Given the description of an element on the screen output the (x, y) to click on. 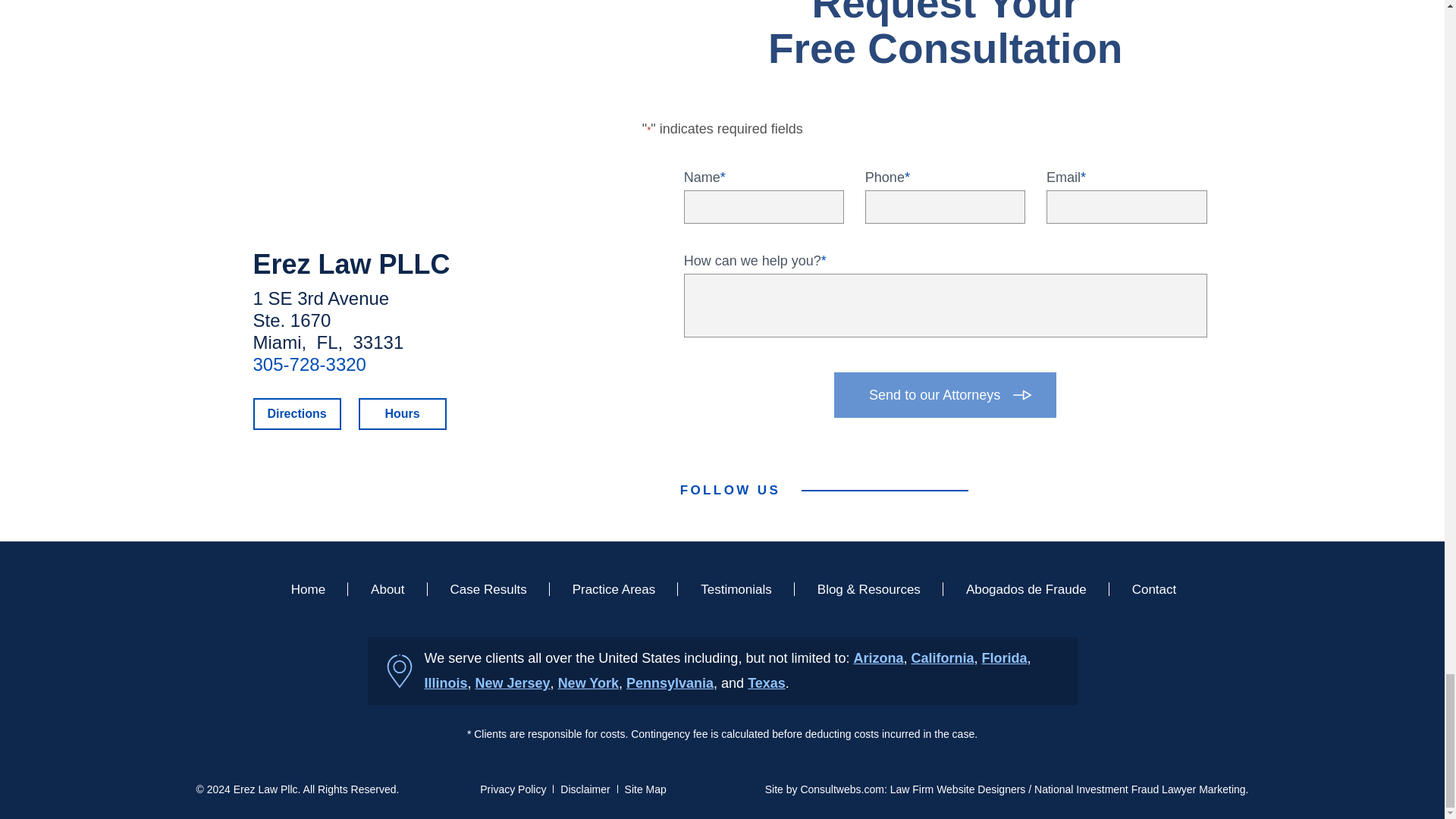
Send to our Attorneys (945, 394)
